Given the description of an element on the screen output the (x, y) to click on. 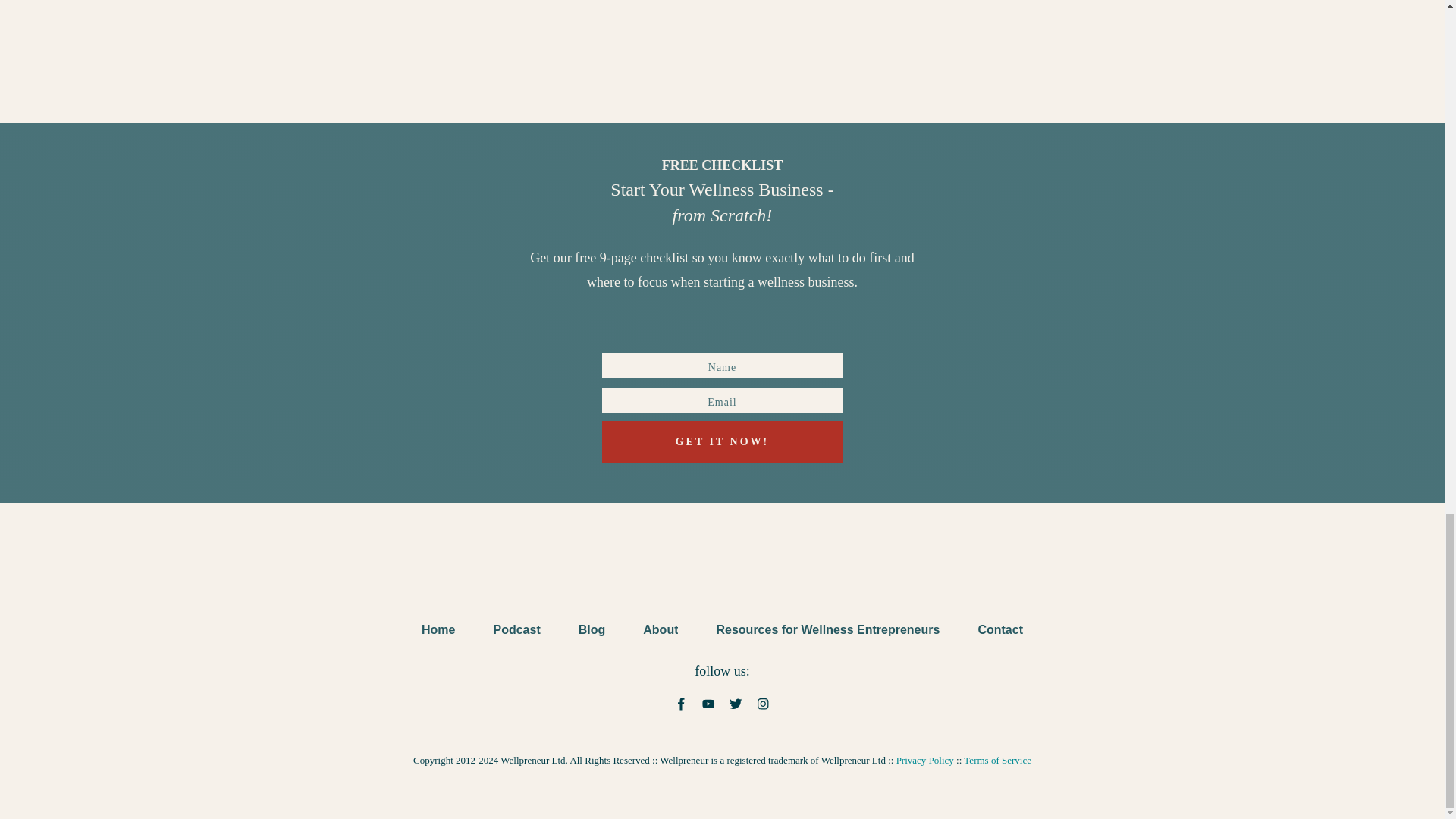
GET IT NOW! (722, 441)
Contact (999, 630)
Clare-Wright (421, 29)
Resources for Wellness Entrepreneurs (827, 630)
Podcast (516, 630)
Blog (591, 630)
Terms of Service (996, 759)
Privacy Policy (924, 759)
About (660, 630)
Home (438, 630)
